Given the description of an element on the screen output the (x, y) to click on. 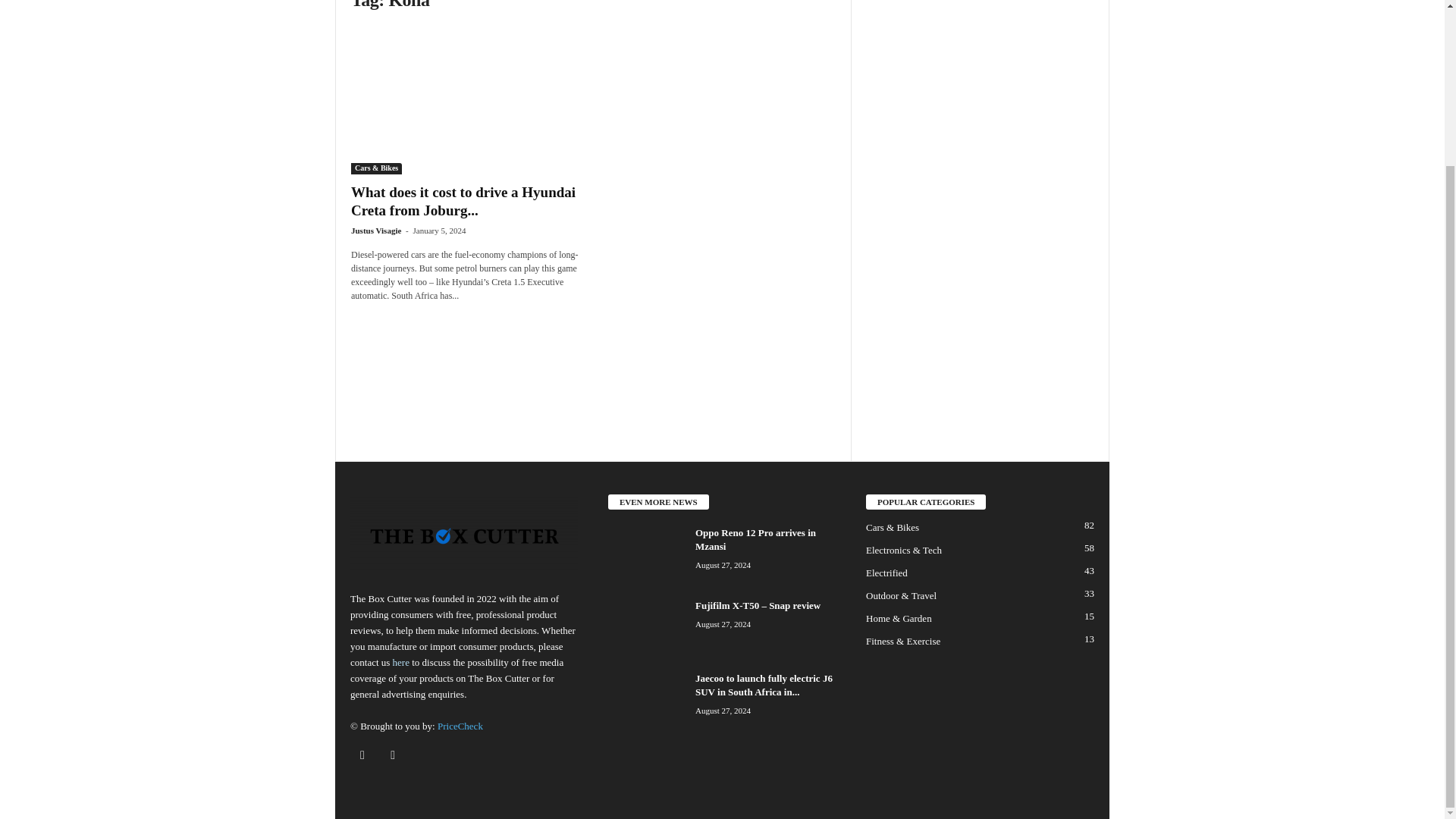
Oppo Reno 12 Pro arrives in Mzansi (646, 554)
Justus Visagie (375, 230)
What does it cost to drive a Hyundai Creta from Joburg... (462, 201)
Twitter (394, 755)
Facebook (365, 755)
The box cutter logo (464, 534)
